Given the description of an element on the screen output the (x, y) to click on. 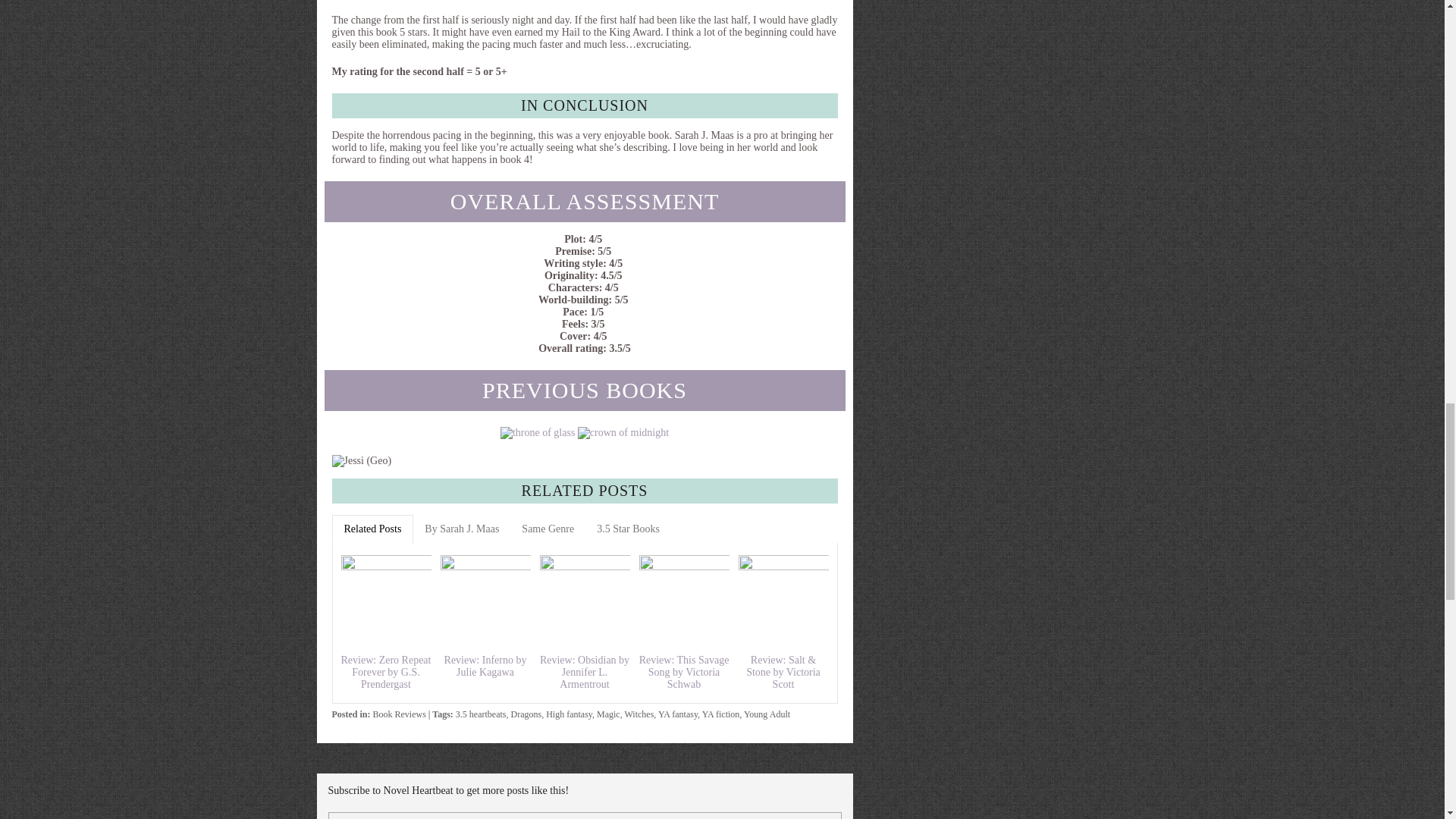
View all posts in Book Reviews (399, 714)
